Given the description of an element on the screen output the (x, y) to click on. 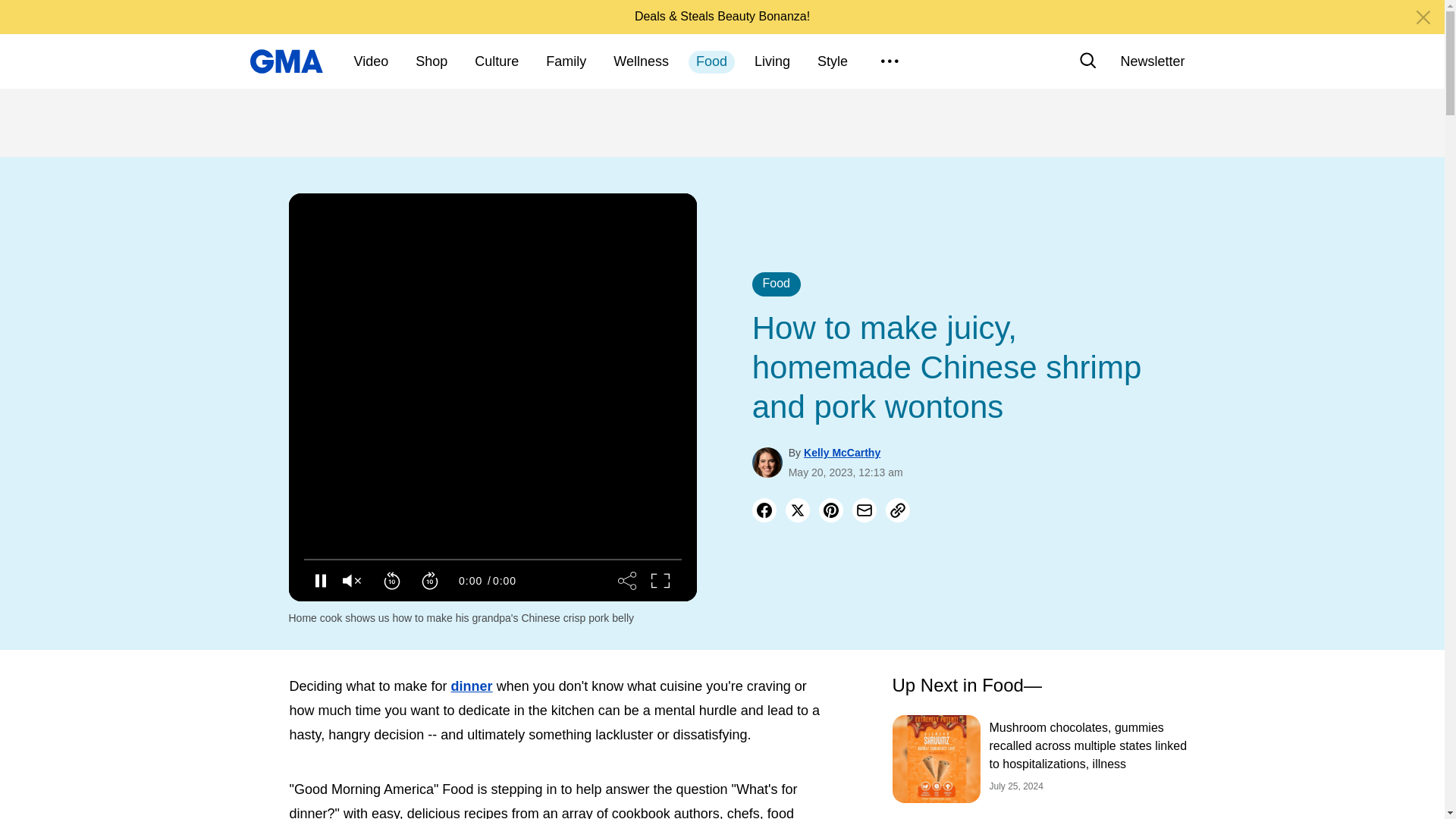
Video (371, 61)
Kelly McCarthy (841, 452)
Shop (430, 61)
dinner (472, 685)
Family (566, 61)
Culture (496, 61)
Style (832, 61)
Newsletter (1152, 61)
Search (1087, 60)
Wellness (641, 61)
Food (776, 283)
Food (711, 61)
Living (771, 61)
